Given the description of an element on the screen output the (x, y) to click on. 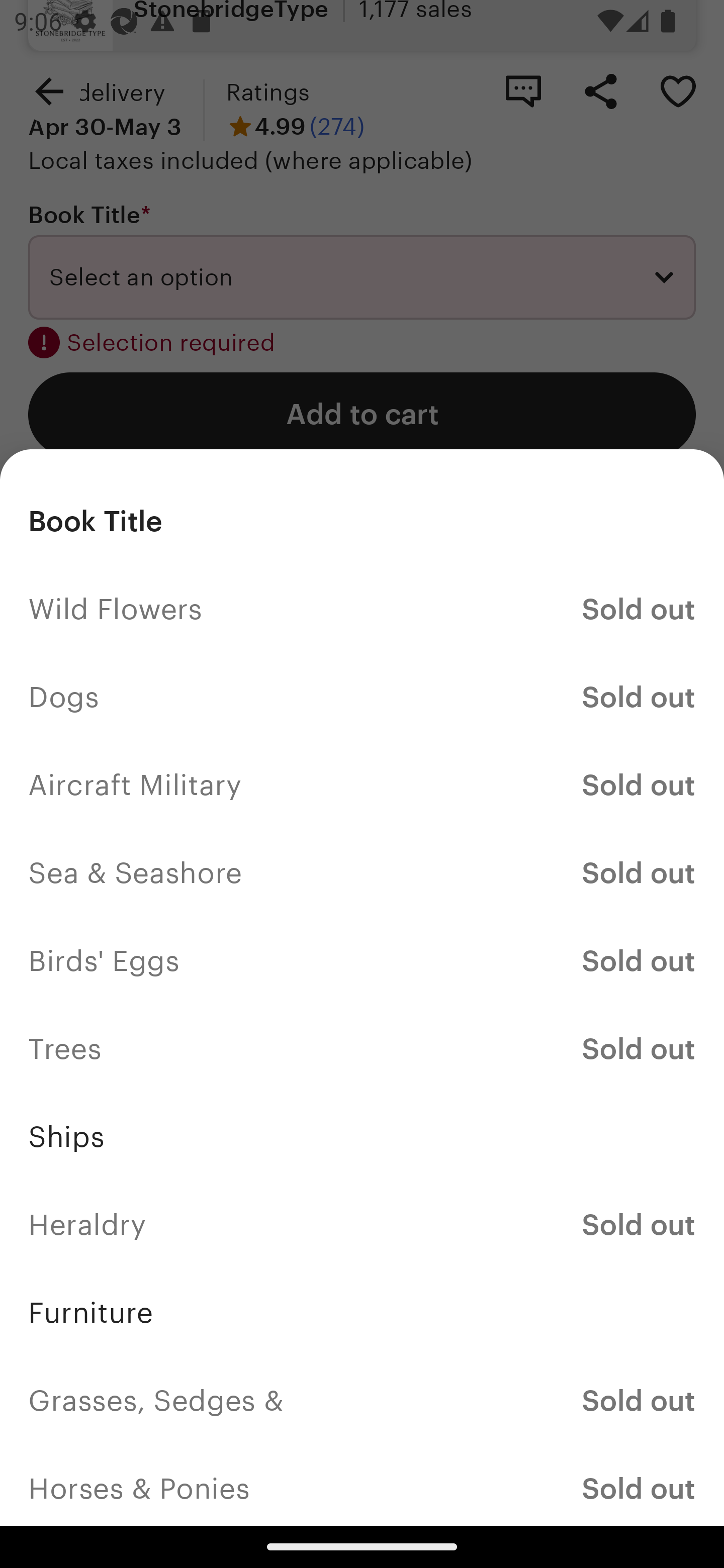
Wild Flowers Sold out (362, 609)
Dogs Sold out (362, 697)
Aircraft Military Sold out (362, 785)
Sea & Seashore Sold out (362, 873)
Birds' Eggs Sold out (362, 961)
Trees Sold out (362, 1048)
Ships (362, 1136)
Heraldry Sold out (362, 1224)
Furniture (362, 1312)
Grasses, Sedges & Sold out (362, 1400)
Horses & Ponies Sold out (362, 1484)
